Given the description of an element on the screen output the (x, y) to click on. 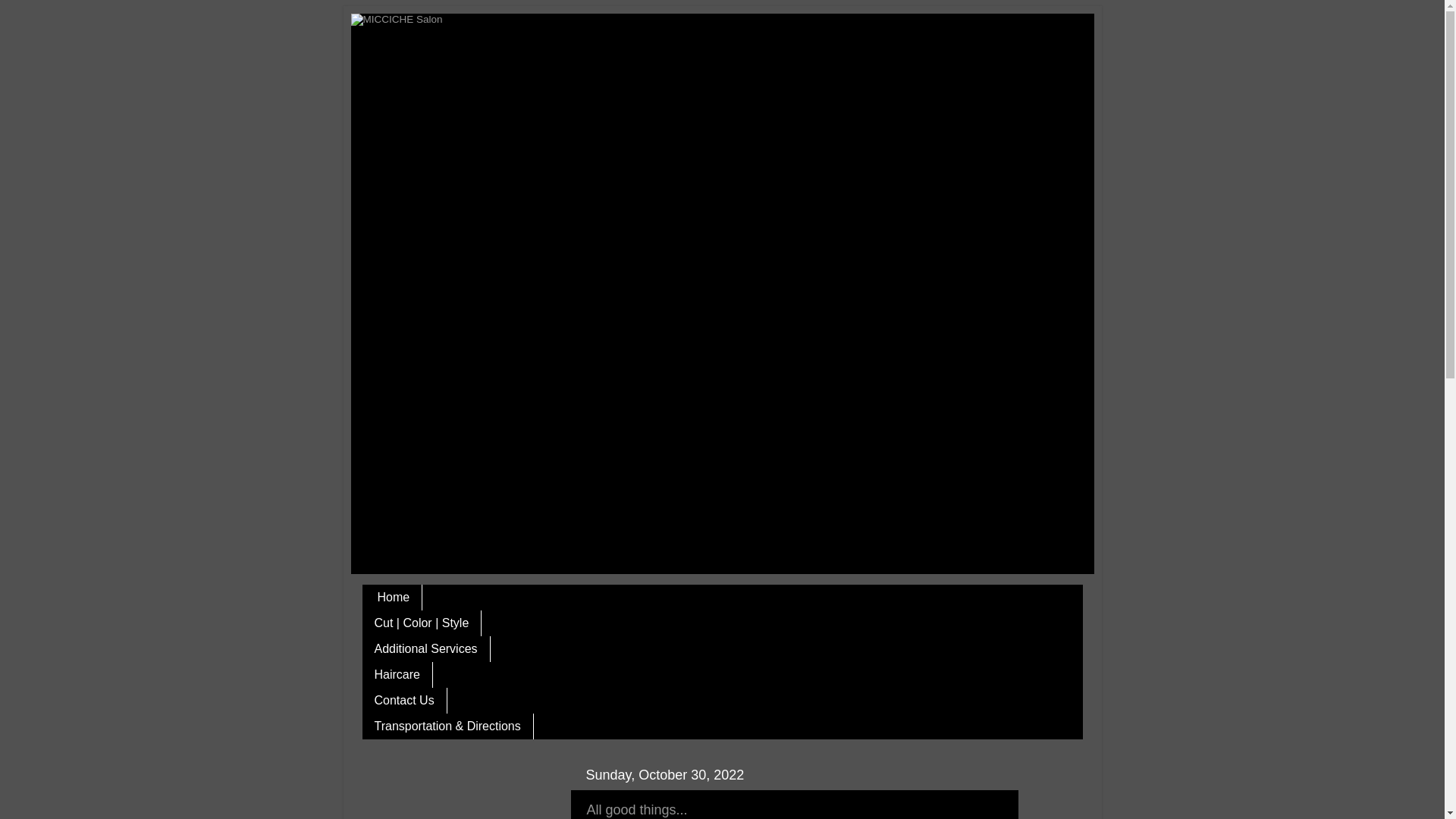
Home (392, 596)
All good things... (636, 809)
Haircare (397, 673)
Additional Services (426, 647)
Contact Us (404, 699)
